Given the description of an element on the screen output the (x, y) to click on. 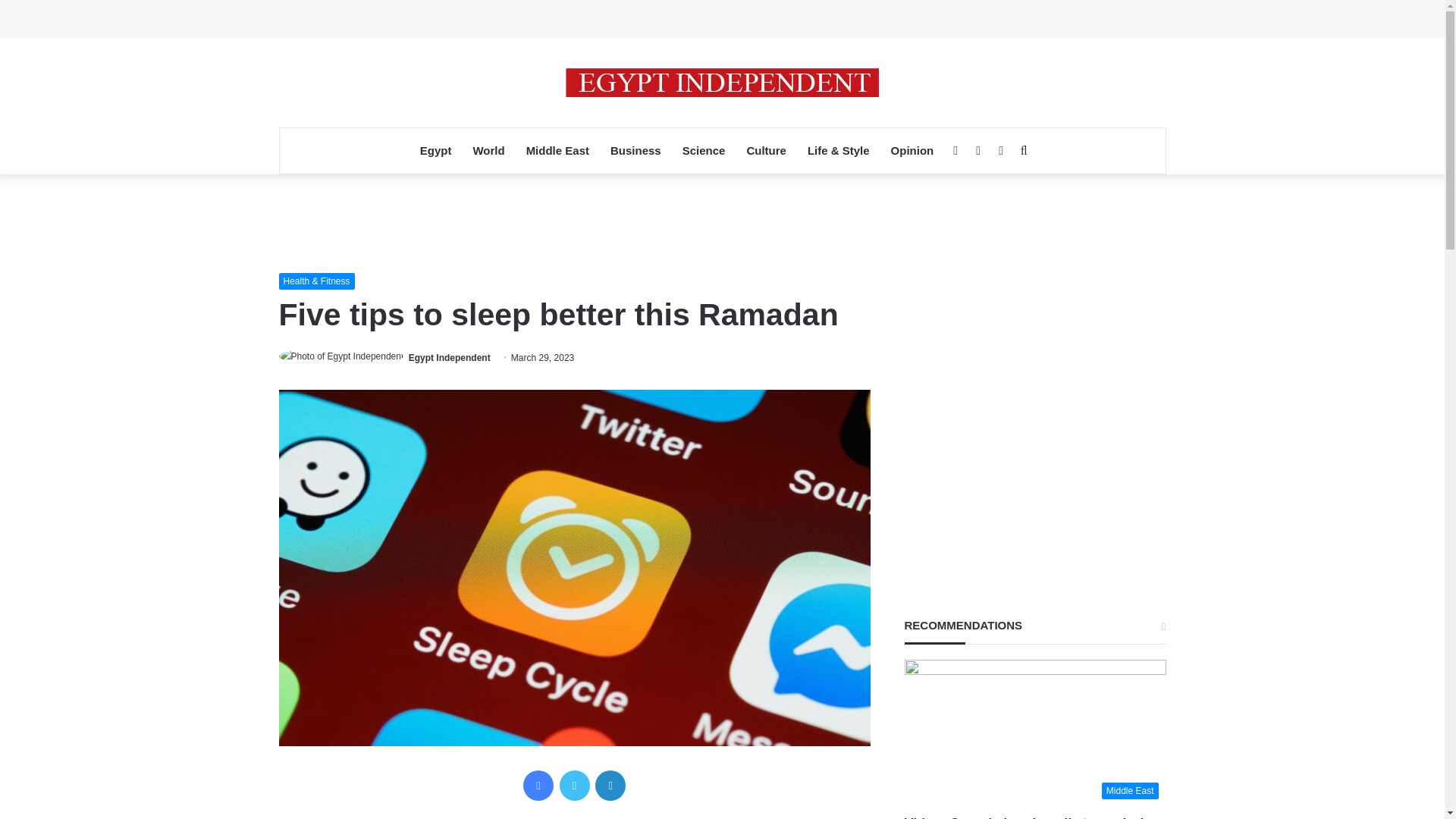
Egypt Independent (449, 357)
Opinion (912, 150)
LinkedIn (610, 785)
Twitter (574, 785)
LinkedIn (610, 785)
Egypt Independent (449, 357)
Culture (765, 150)
Facebook (537, 785)
Facebook (537, 785)
Middle East (557, 150)
Business (635, 150)
Science (703, 150)
Twitter (574, 785)
Egypt Independent (722, 82)
Egypt (436, 150)
